Given the description of an element on the screen output the (x, y) to click on. 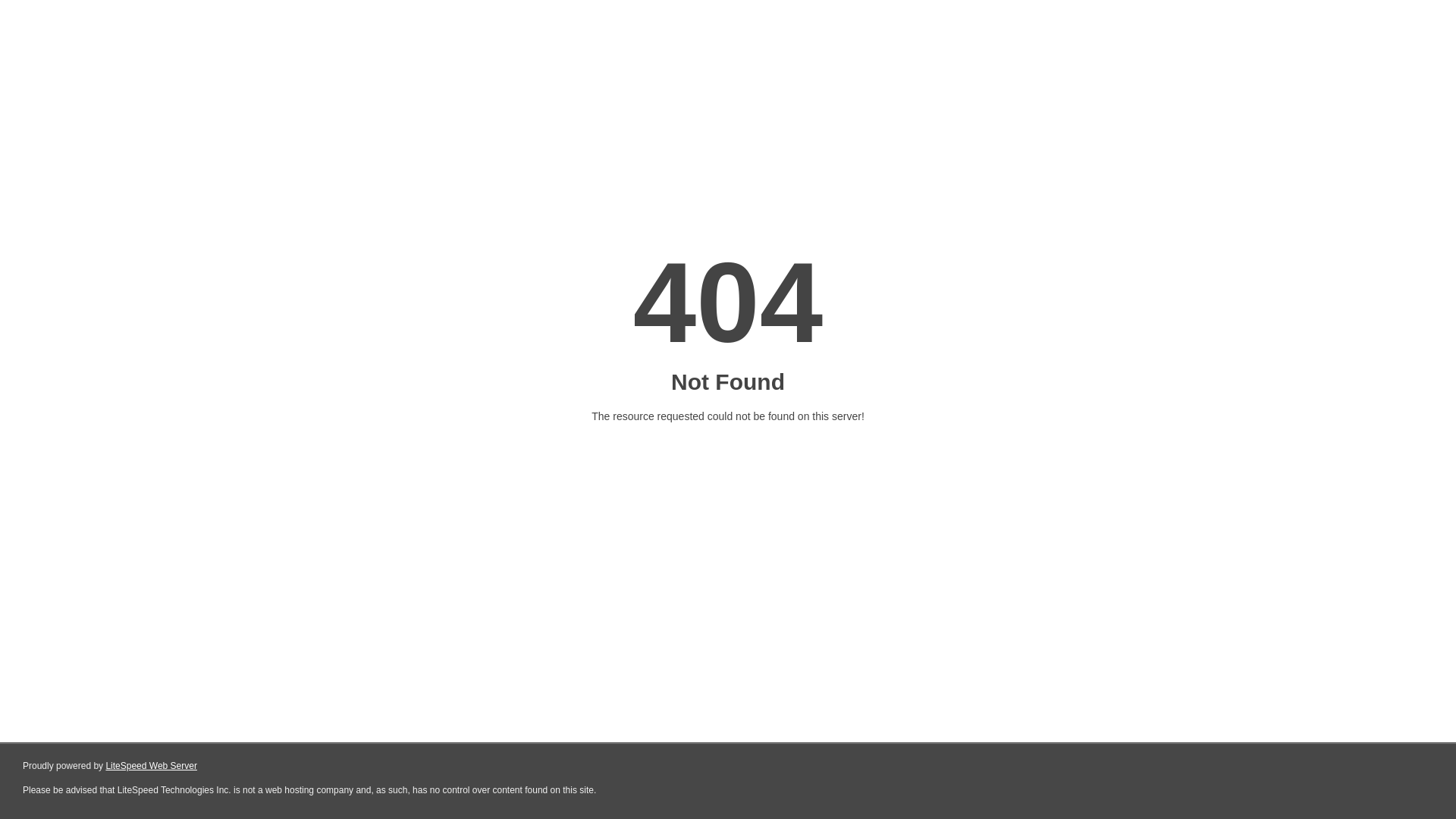
LiteSpeed Web Server Element type: text (151, 765)
